Given the description of an element on the screen output the (x, y) to click on. 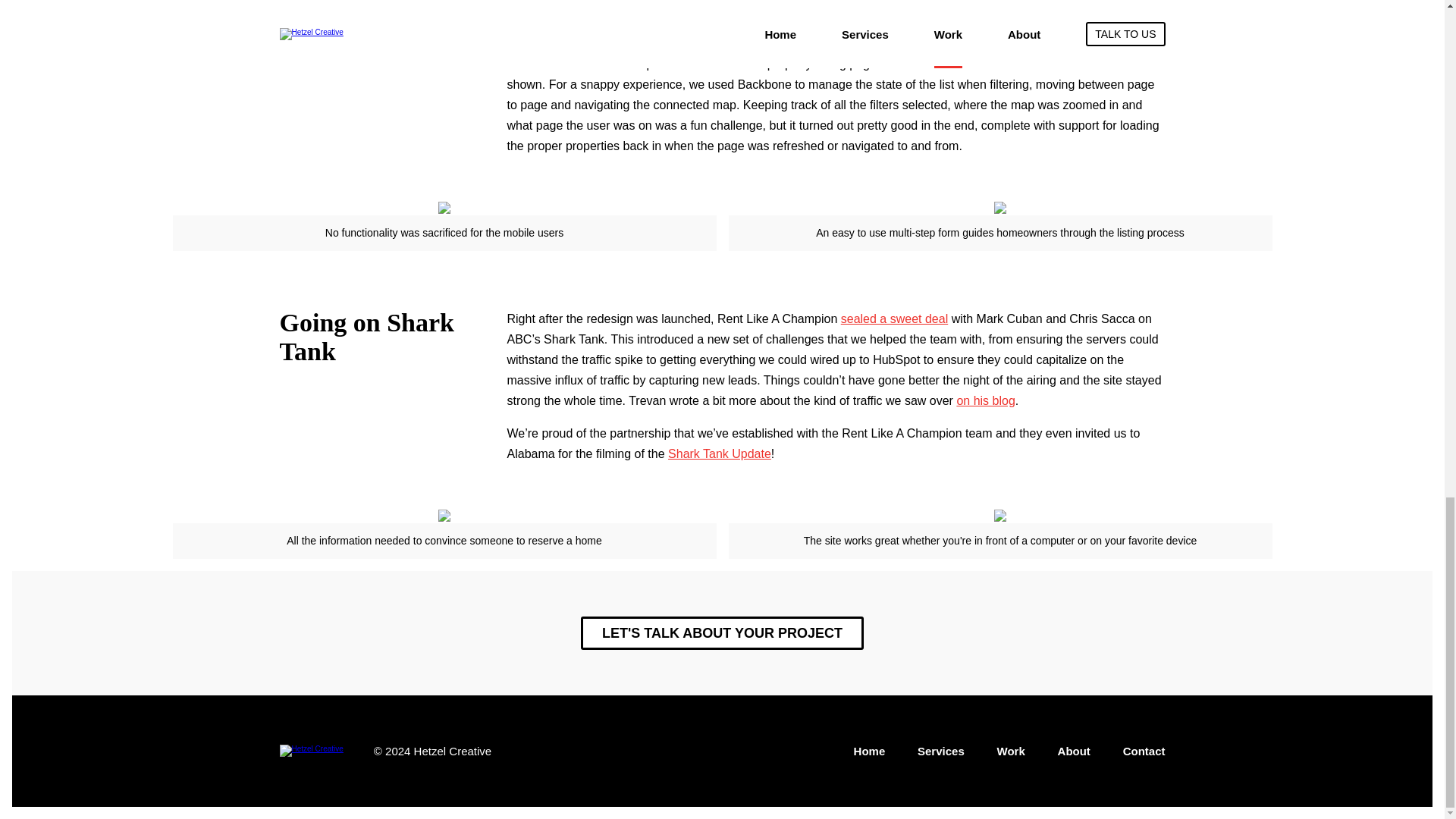
Home (869, 750)
Shark Tank Update (719, 453)
Contact (1144, 750)
LET'S TALK ABOUT YOUR PROJECT (721, 633)
Work (1011, 750)
on his blog (985, 400)
sealed a sweet deal (894, 318)
Services (940, 750)
About (1074, 750)
